Given the description of an element on the screen output the (x, y) to click on. 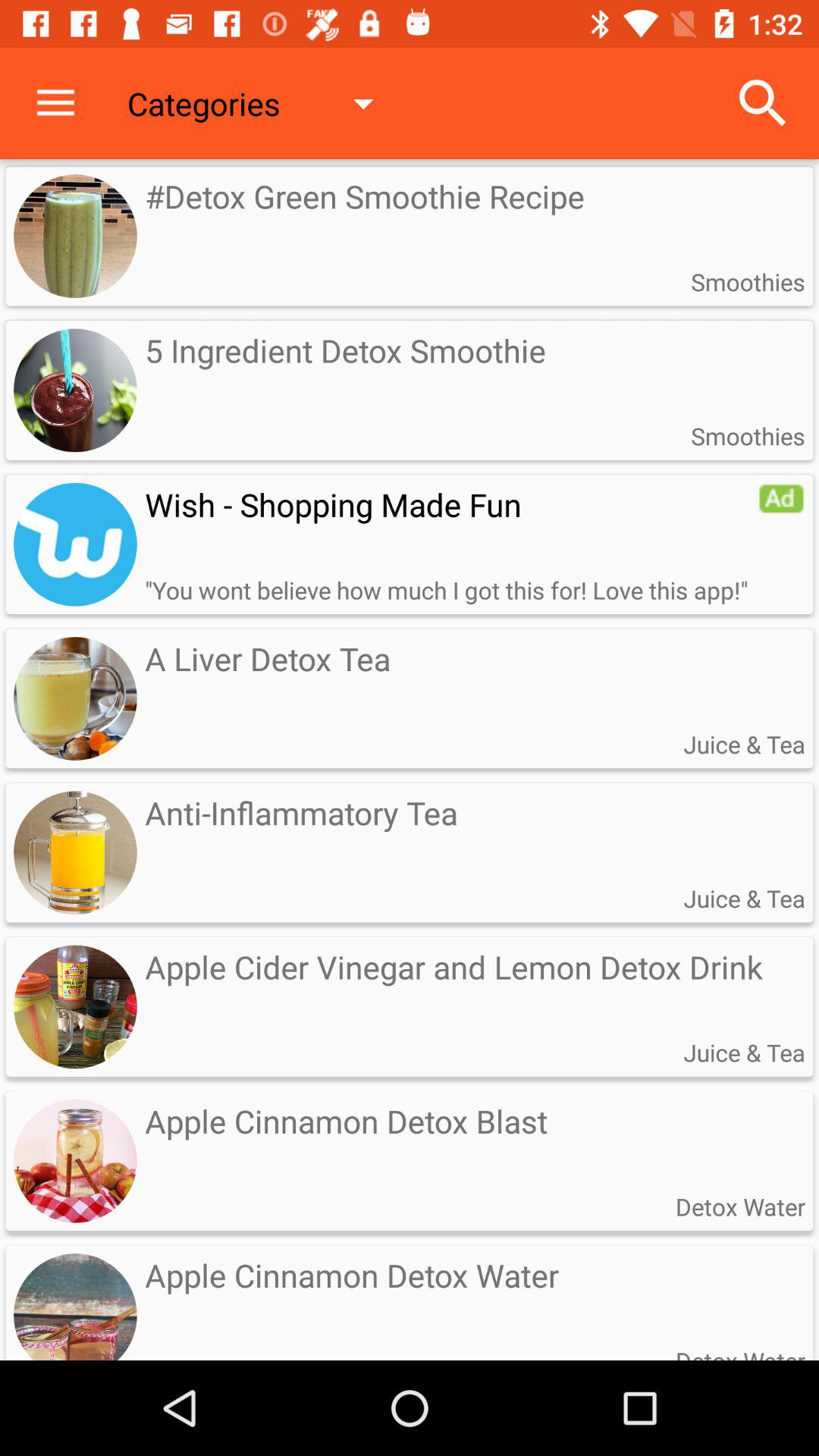
press item next to the categories item (763, 103)
